Given the description of an element on the screen output the (x, y) to click on. 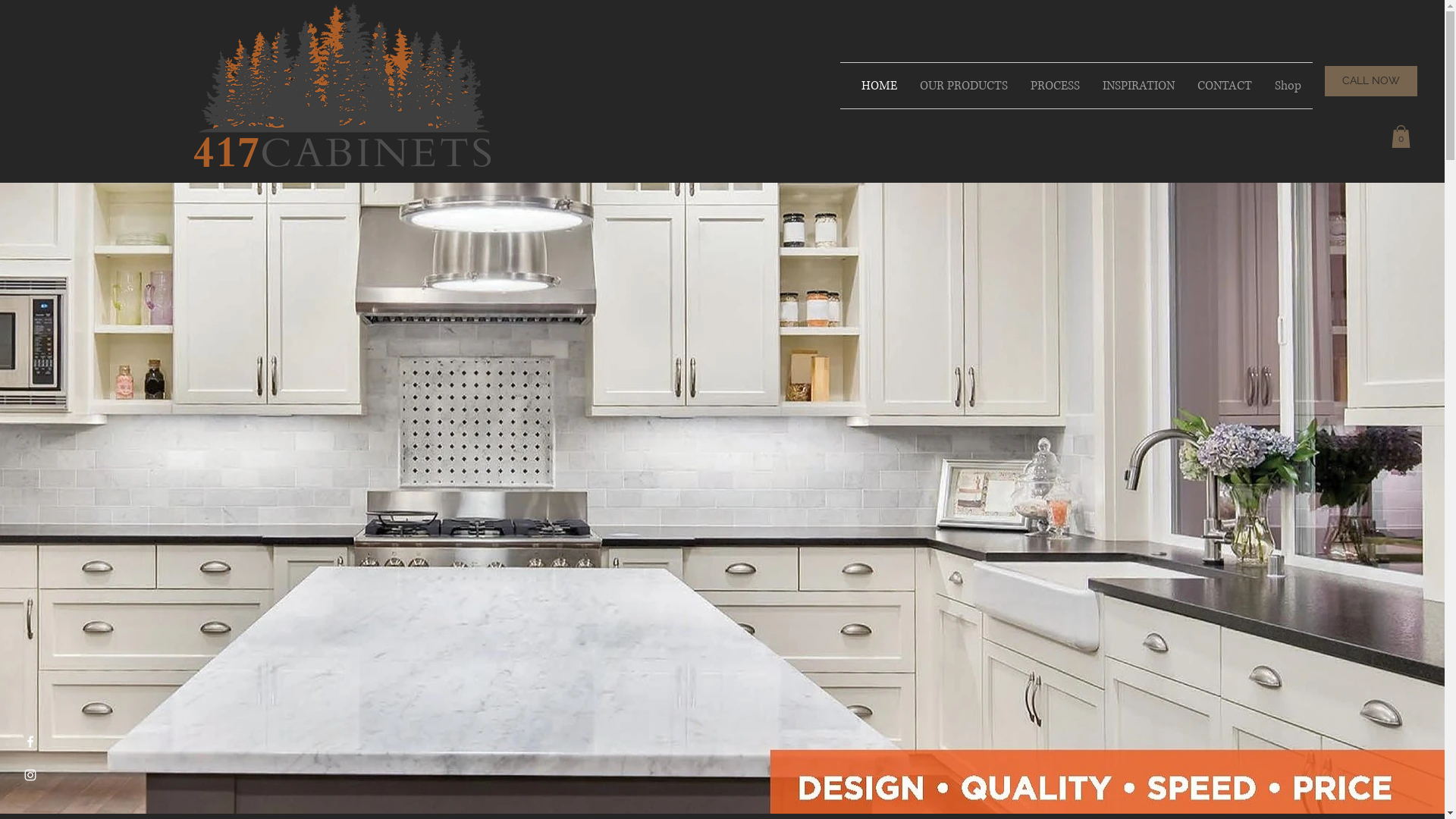
OUR PRODUCTS Element type: text (963, 85)
PROCESS Element type: text (1055, 85)
INSPIRATION Element type: text (1138, 85)
HOME Element type: text (879, 85)
CONTACT Element type: text (1224, 85)
CALL NOW Element type: text (1370, 80)
0 Element type: text (1400, 136)
Shop Element type: text (1287, 85)
